Given the description of an element on the screen output the (x, y) to click on. 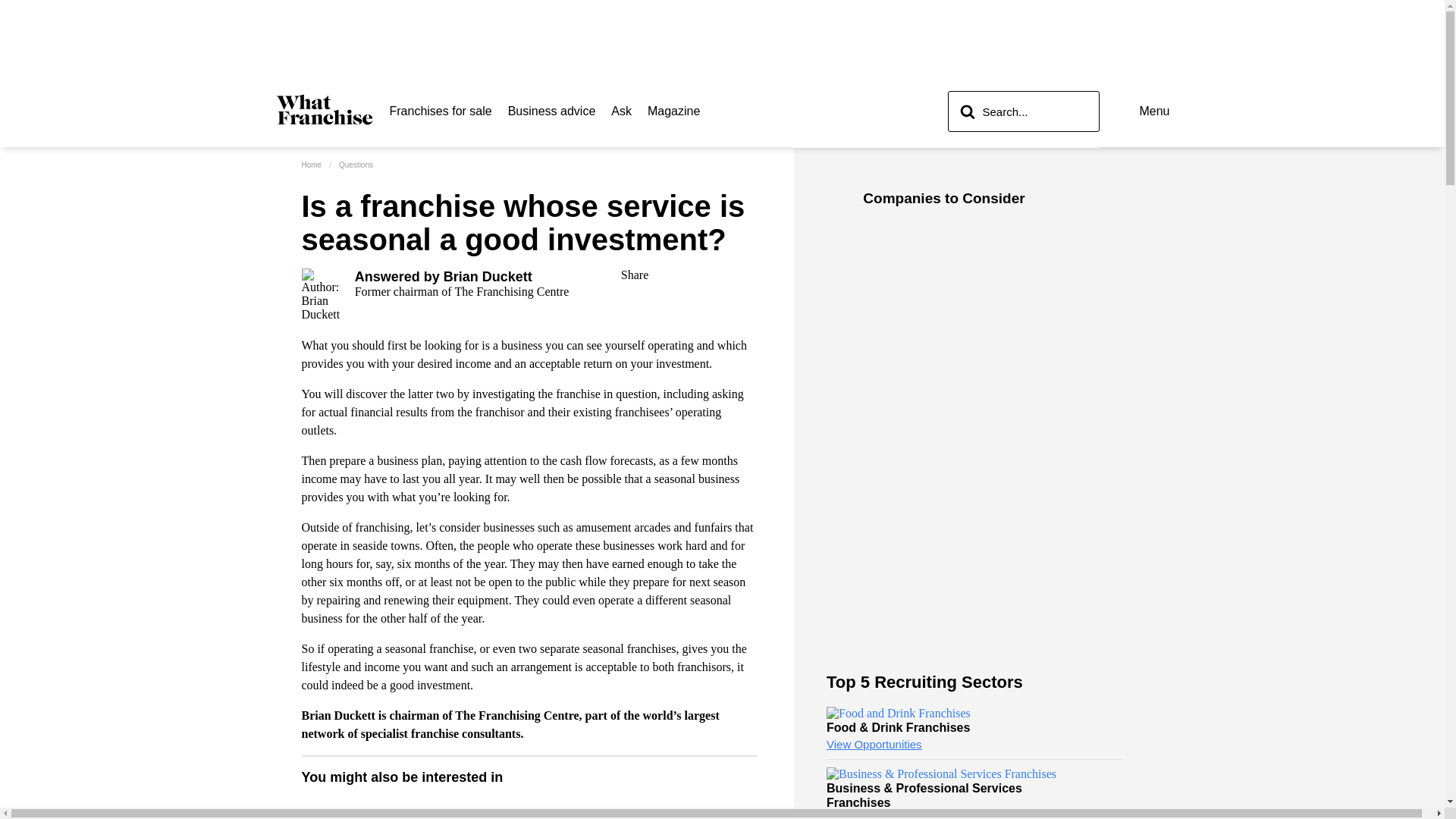
Questions (355, 164)
Business advice (551, 110)
Ask (528, 814)
Magazine (621, 110)
Franchises for sale (673, 110)
Home (441, 110)
